Given the description of an element on the screen output the (x, y) to click on. 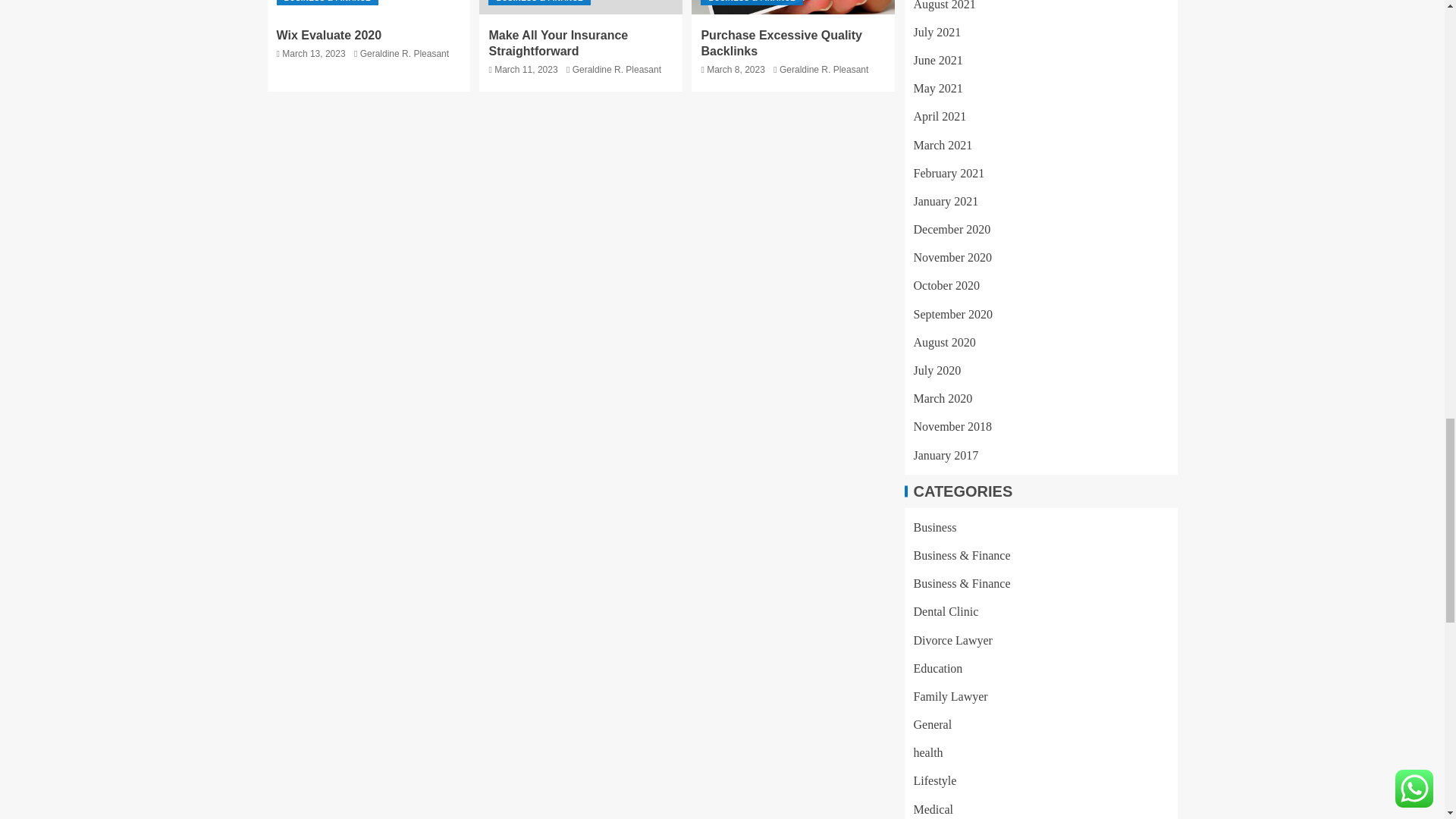
Geraldine R. Pleasant (403, 53)
Make All Your Insurance Straightforward (557, 42)
Make All Your Insurance Straightforward (580, 7)
Wix Evaluate 2020 (328, 34)
Wix Evaluate 2020 (368, 7)
Purchase Excessive Quality Backlinks (793, 7)
